Given the description of an element on the screen output the (x, y) to click on. 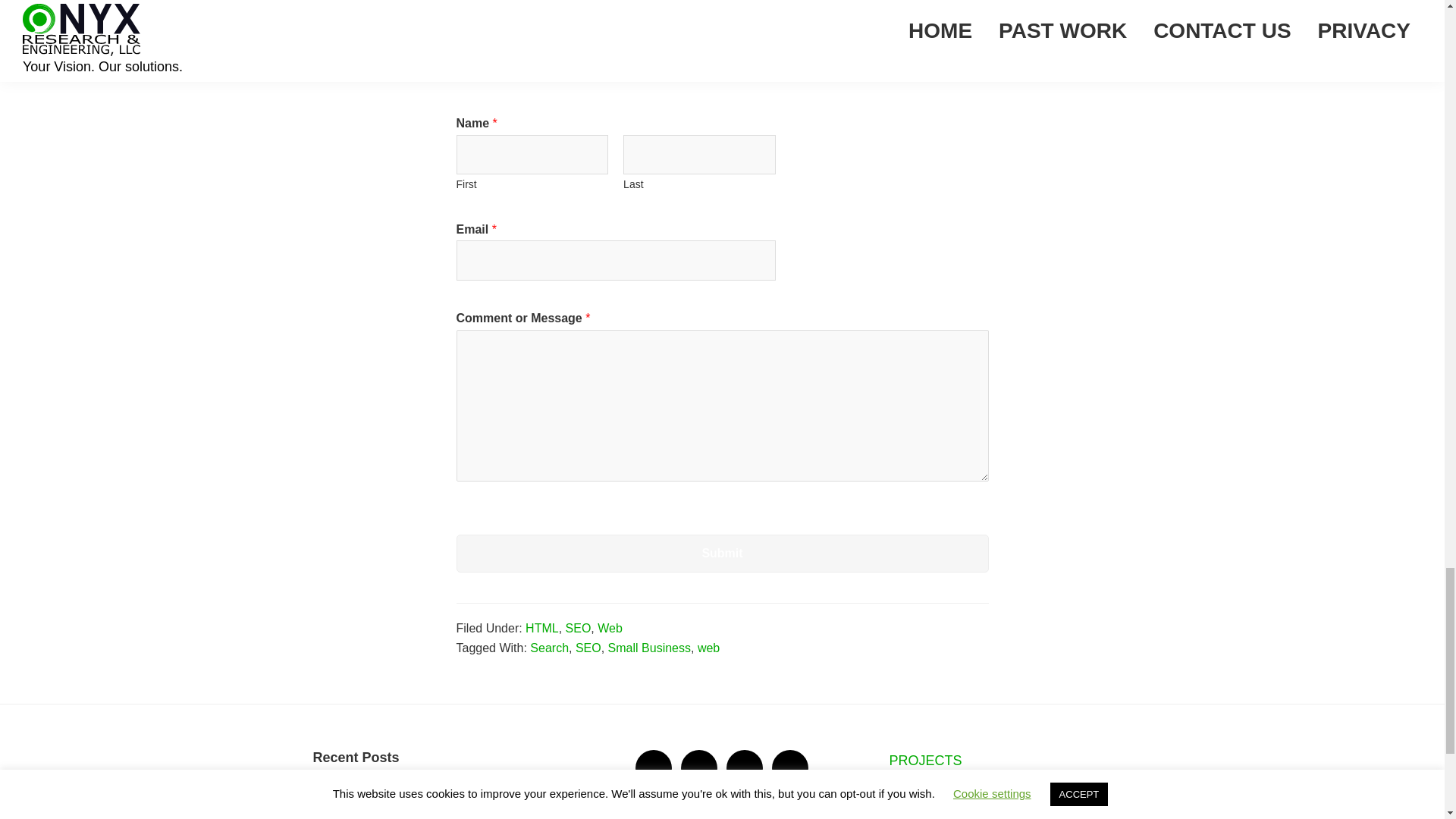
SEO (578, 627)
POSTS (911, 790)
Submit (722, 553)
SEO (588, 647)
ONYXCAM (347, 792)
web (708, 647)
LOGIN (909, 816)
HTML (542, 627)
PROJECTS (924, 760)
Web (609, 627)
Small Business (649, 647)
Search (549, 647)
